Given the description of an element on the screen output the (x, y) to click on. 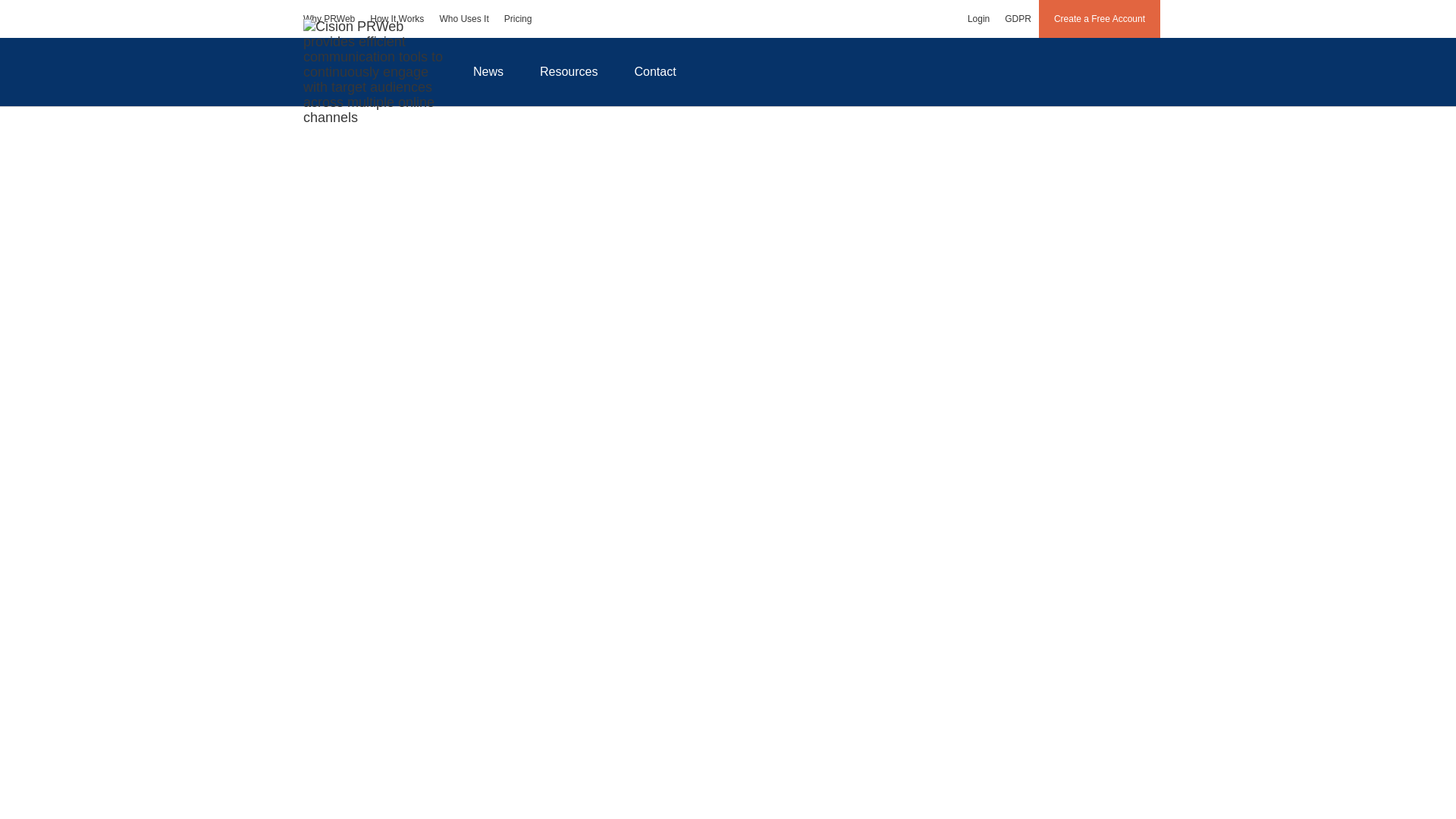
Why PRWeb (328, 18)
Pricing (518, 18)
GDPR (1018, 18)
Contact (654, 71)
Resources (568, 71)
Login (978, 18)
Create a Free Account (1099, 18)
How It Works (396, 18)
News (487, 71)
Who Uses It (463, 18)
